Given the description of an element on the screen output the (x, y) to click on. 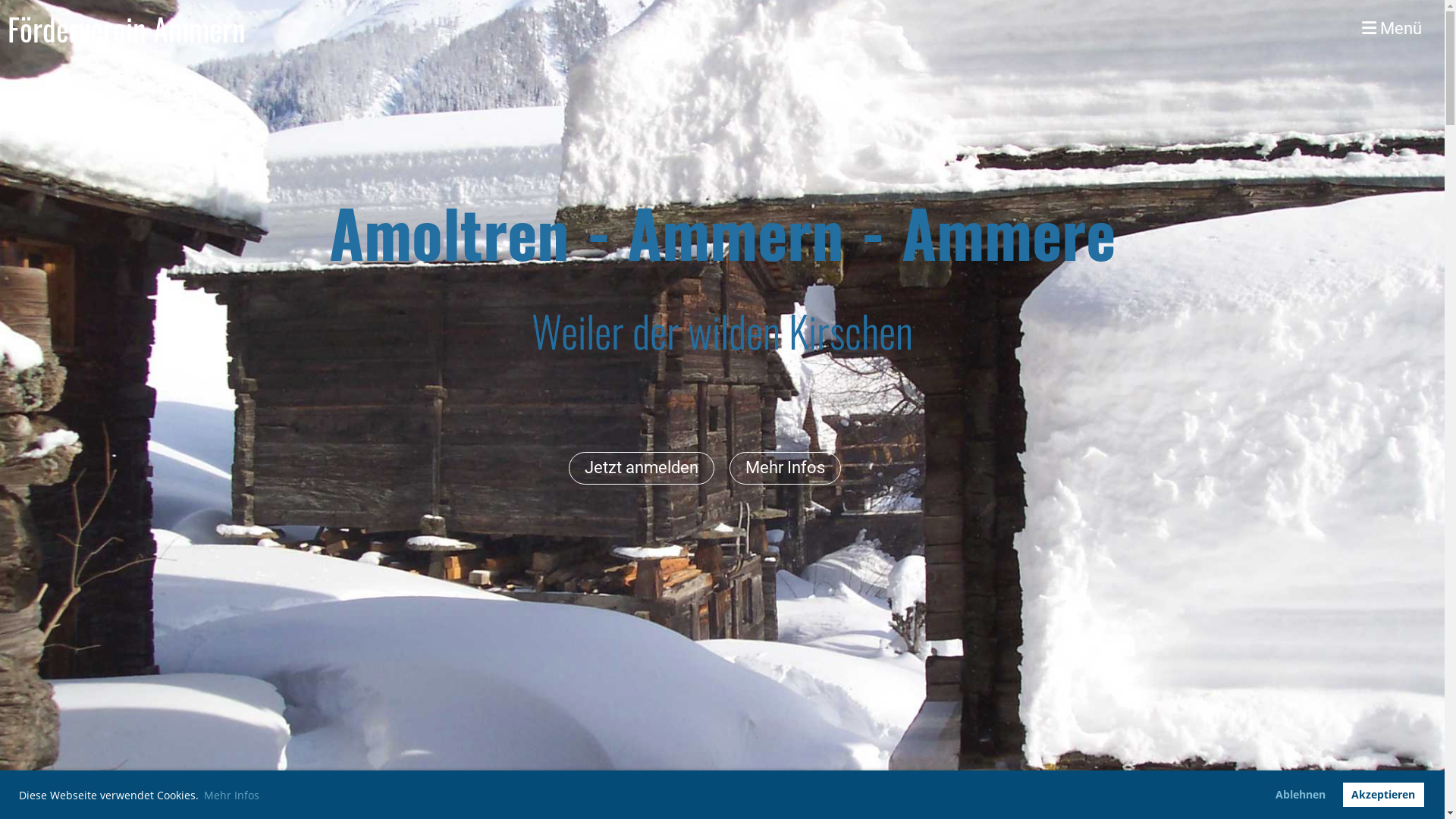
Mehr Infos Element type: text (784, 467)
Mehr Infos Element type: text (231, 794)
Jetzt anmelden Element type: text (641, 467)
Ablehnen Element type: text (1300, 794)
Akzeptieren Element type: text (1383, 794)
